Given the description of an element on the screen output the (x, y) to click on. 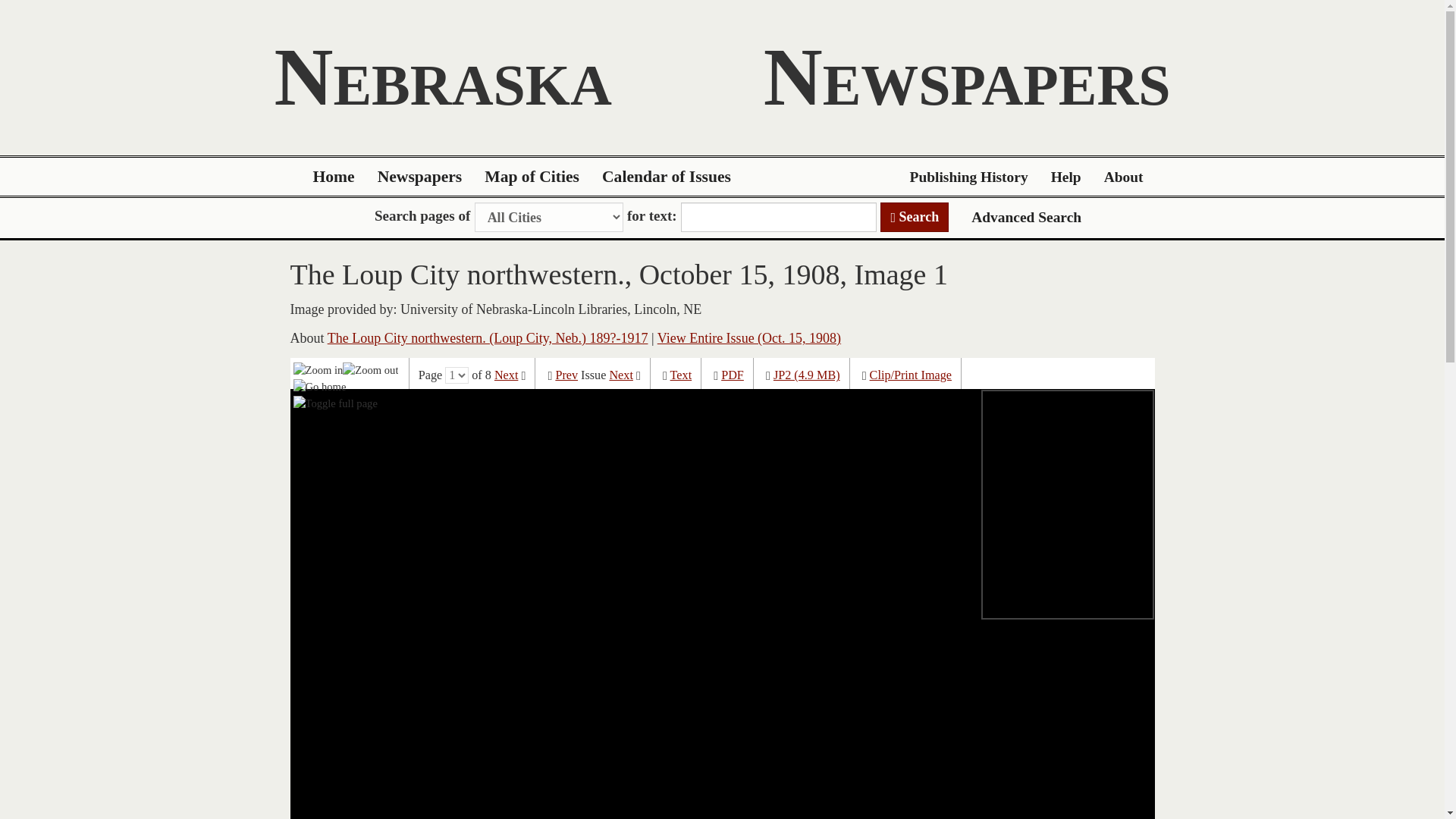
Prev (566, 375)
Help (1066, 176)
PDF (732, 375)
About (1123, 176)
Next (506, 375)
Publishing History (968, 176)
Go home (320, 386)
Map of Cities (532, 176)
Newspapers (420, 176)
Search (914, 217)
Home (333, 176)
Zoom in (318, 369)
Calendar of Issues (666, 176)
Zoom out (369, 369)
Toggle full page (335, 402)
